Given the description of an element on the screen output the (x, y) to click on. 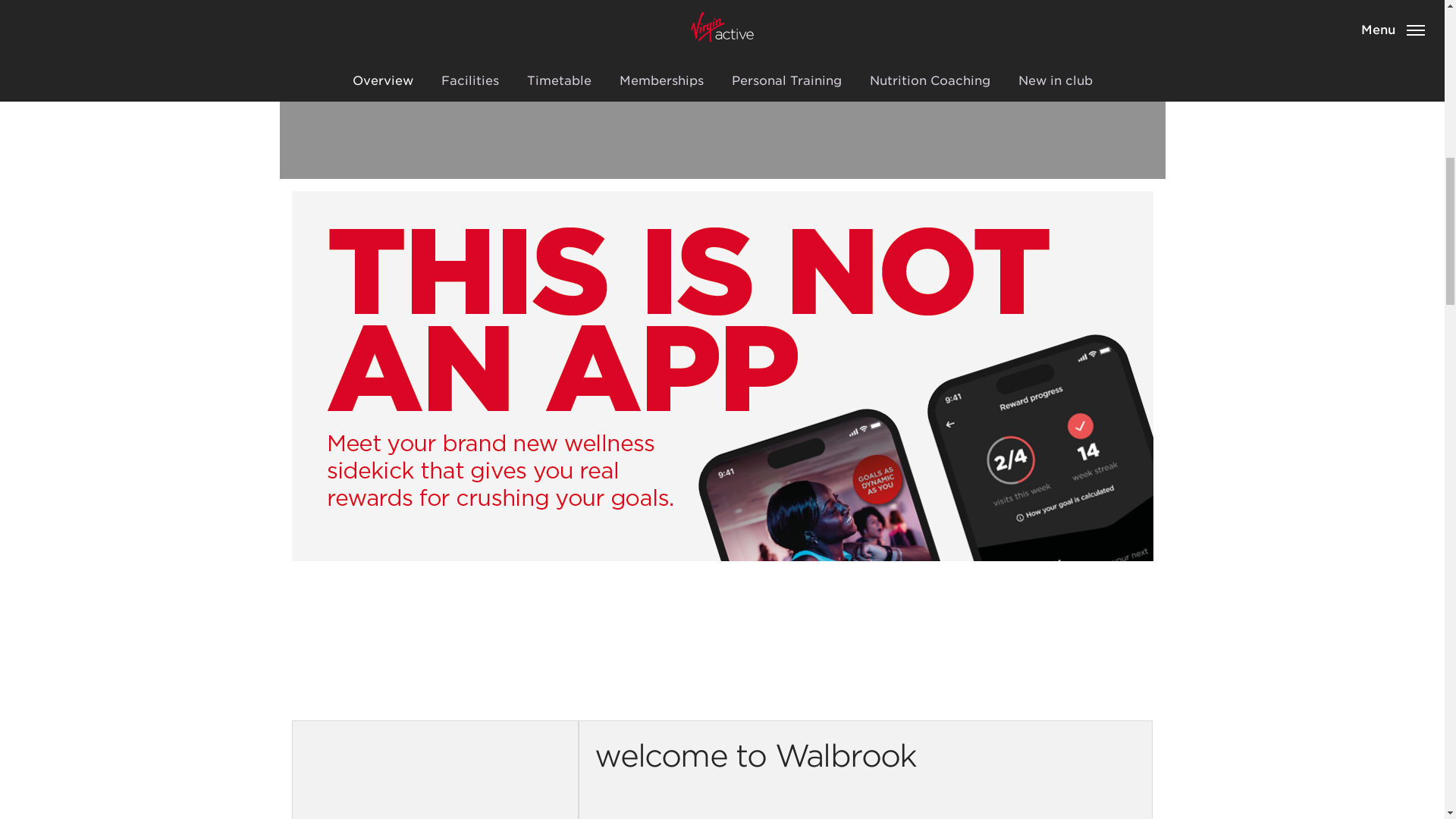
the legal stuff (773, 72)
sign me up (660, 72)
